Given the description of an element on the screen output the (x, y) to click on. 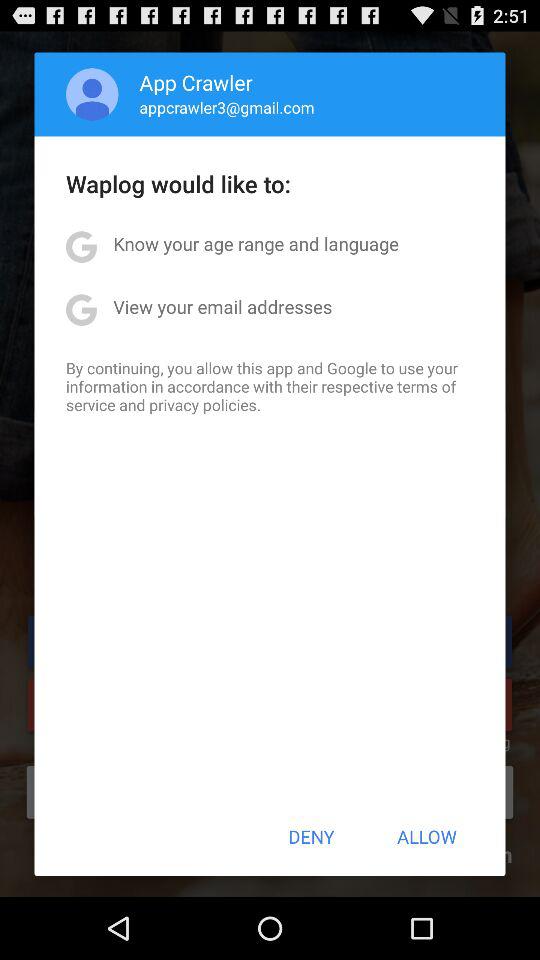
turn on view your email item (222, 306)
